Given the description of an element on the screen output the (x, y) to click on. 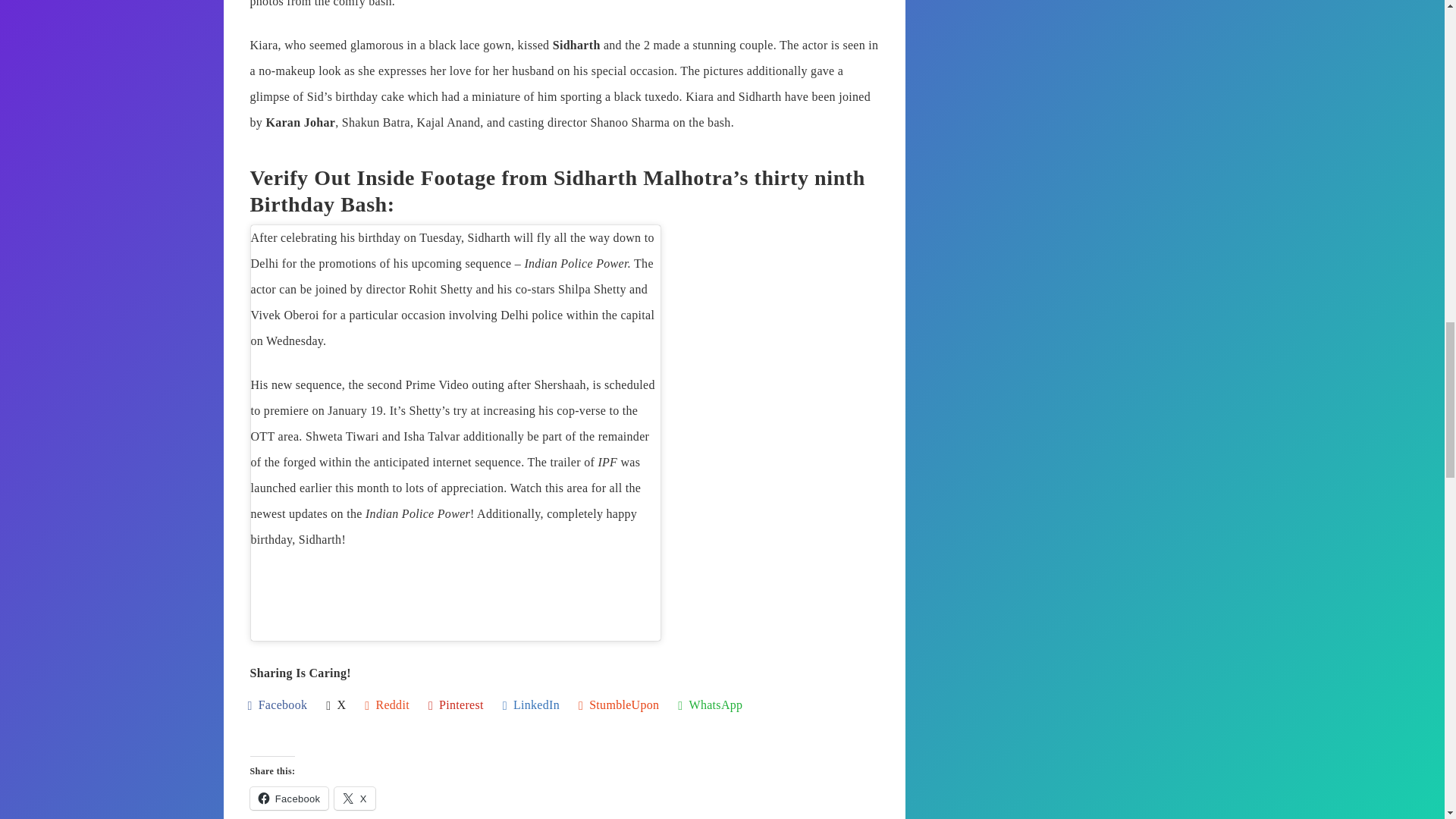
Reddit (387, 706)
WhatsApp (710, 706)
Facebook (289, 798)
Click to share on Facebook (289, 798)
Click to share on X (354, 798)
X (354, 798)
Pinterest (455, 706)
Facebook (277, 706)
LinkedIn (530, 706)
StumbleUpon (618, 706)
